Given the description of an element on the screen output the (x, y) to click on. 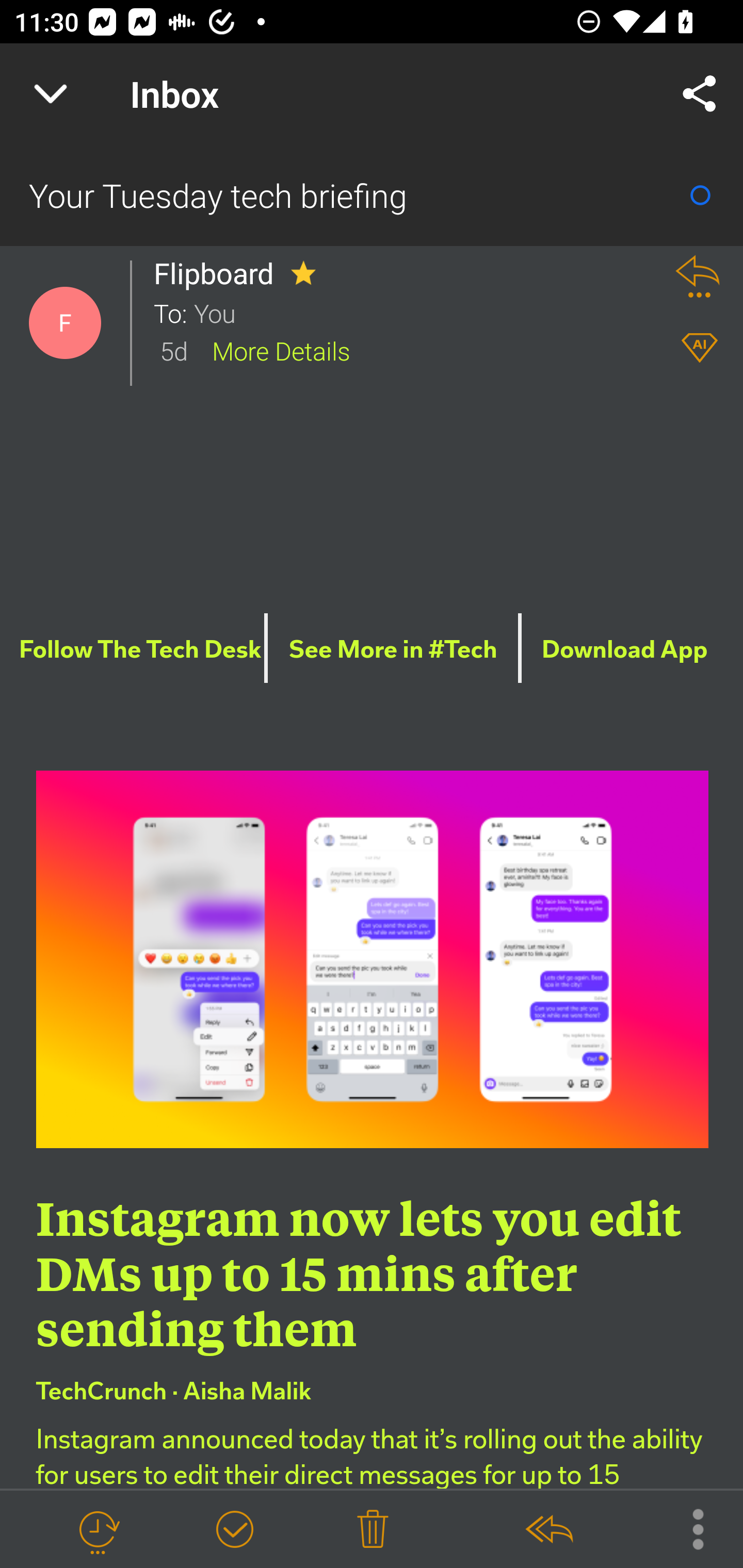
Navigate up (50, 93)
Share (699, 93)
Mark as Read (699, 194)
Flipboard (219, 273)
Contact Details (64, 322)
You (422, 311)
More Details (280, 349)
Follow The Tech Desk Follow  The Tech Desk (139, 649)
See More in #Tech (392, 649)
Download App (625, 649)
More Options (687, 1528)
Snooze (97, 1529)
Mark as Done (234, 1529)
Delete (372, 1529)
Reply All (548, 1529)
